Given the description of an element on the screen output the (x, y) to click on. 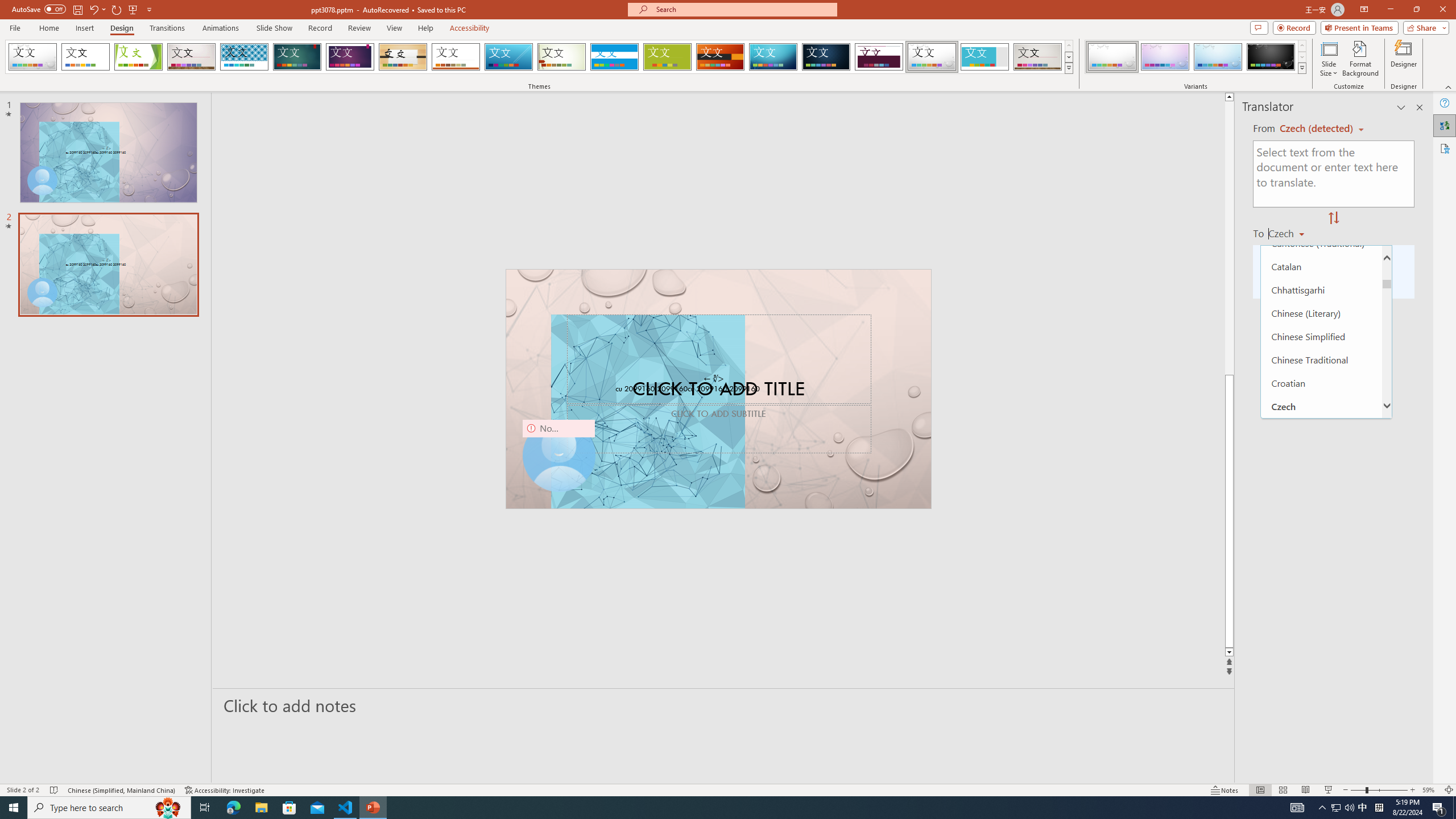
Droplet Variant 4 (1270, 56)
Chinese Simplified (1320, 336)
Slide Size (1328, 58)
Droplet Variant 2 (1164, 56)
Czech (detected) (1317, 128)
Dutch (1320, 522)
Croatian (1320, 382)
TextBox 61 (717, 389)
